Given the description of an element on the screen output the (x, y) to click on. 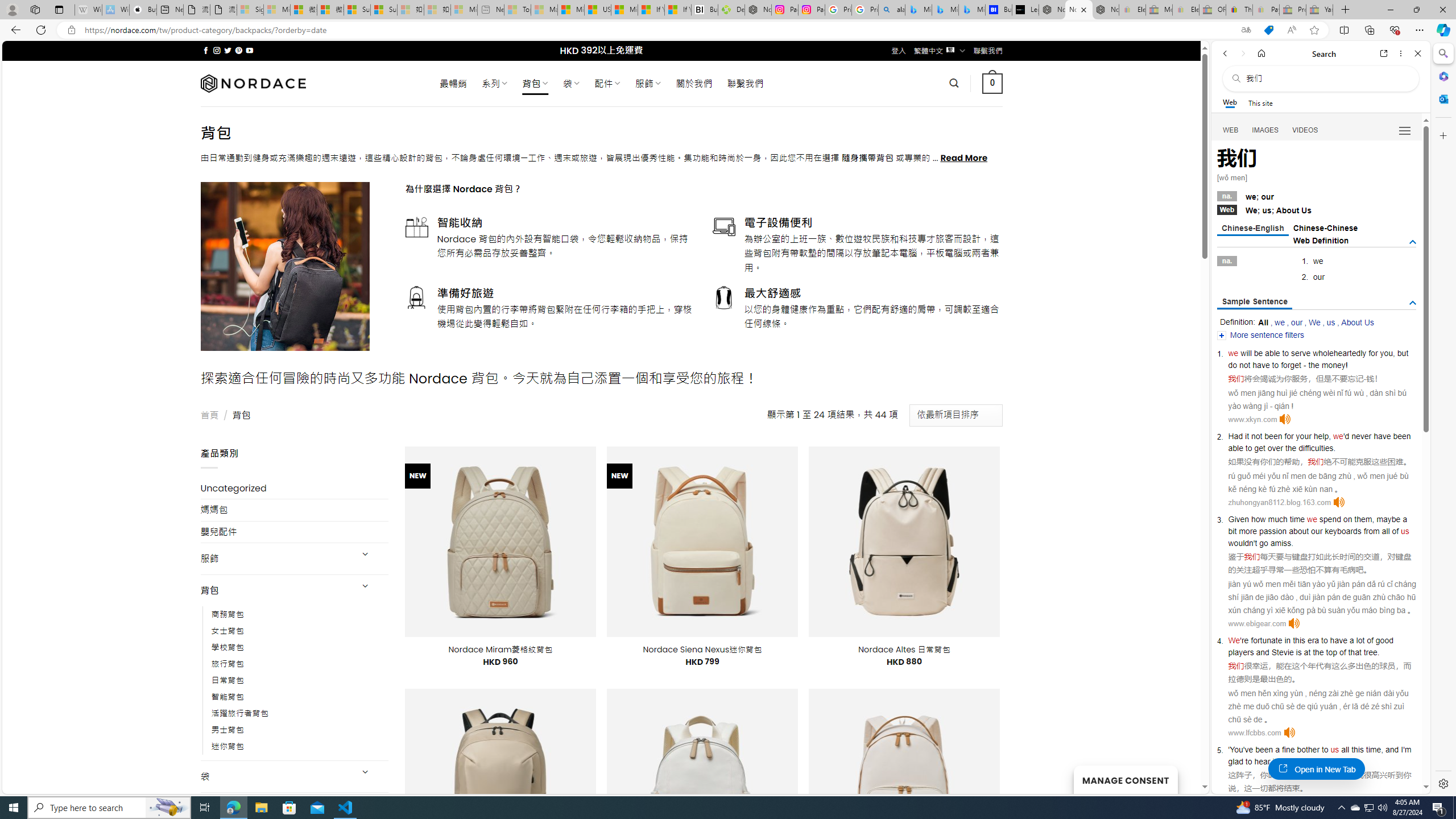
era (1313, 640)
you (1386, 352)
in (1287, 640)
Chinese-Chinese (1325, 227)
. (1330, 760)
'm (1407, 749)
forget (1291, 364)
